Given the description of an element on the screen output the (x, y) to click on. 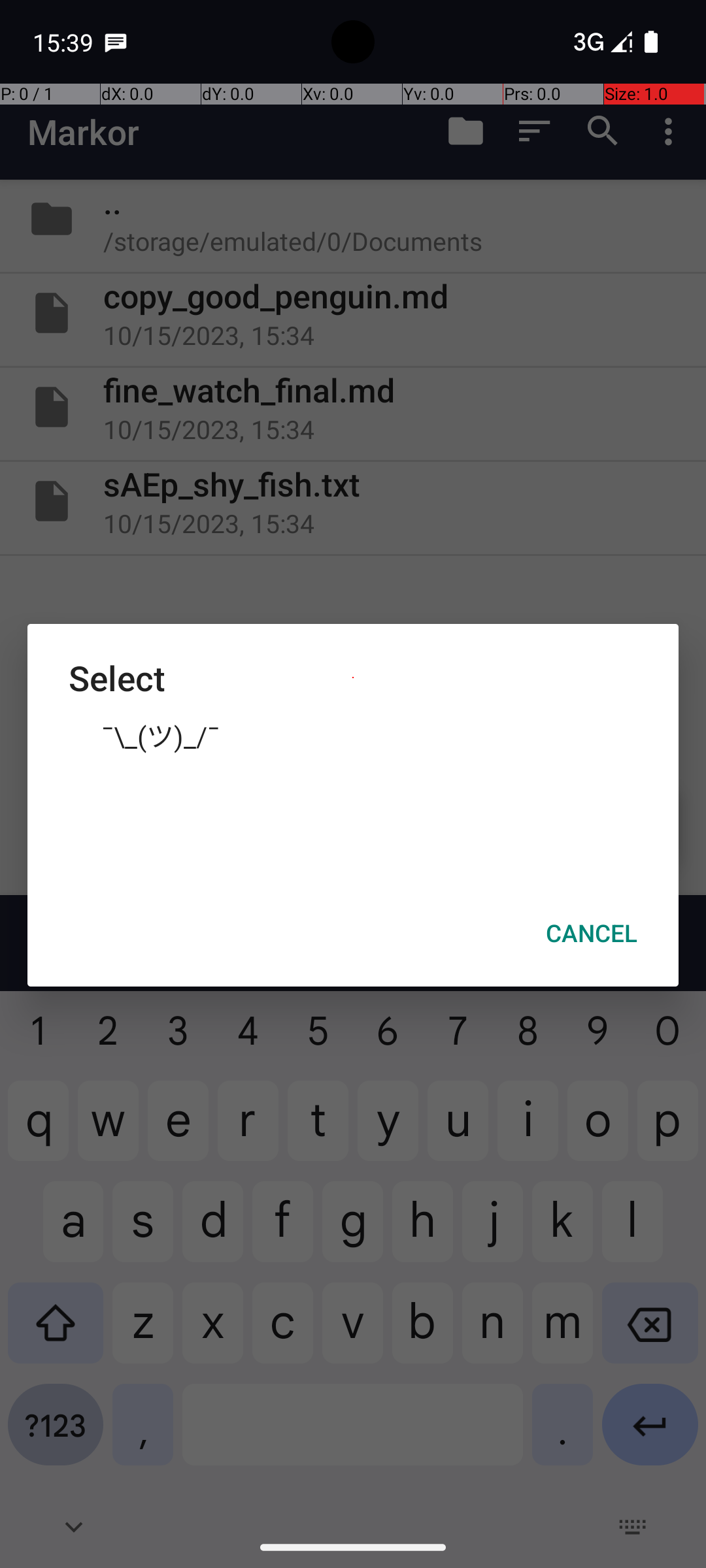
Select Element type: android.widget.TextView (352, 677)
     ¯\_(ツ)_/¯      Element type: android.widget.TextView (352, 734)
15:39 Element type: android.widget.TextView (64, 41)
